Given the description of an element on the screen output the (x, y) to click on. 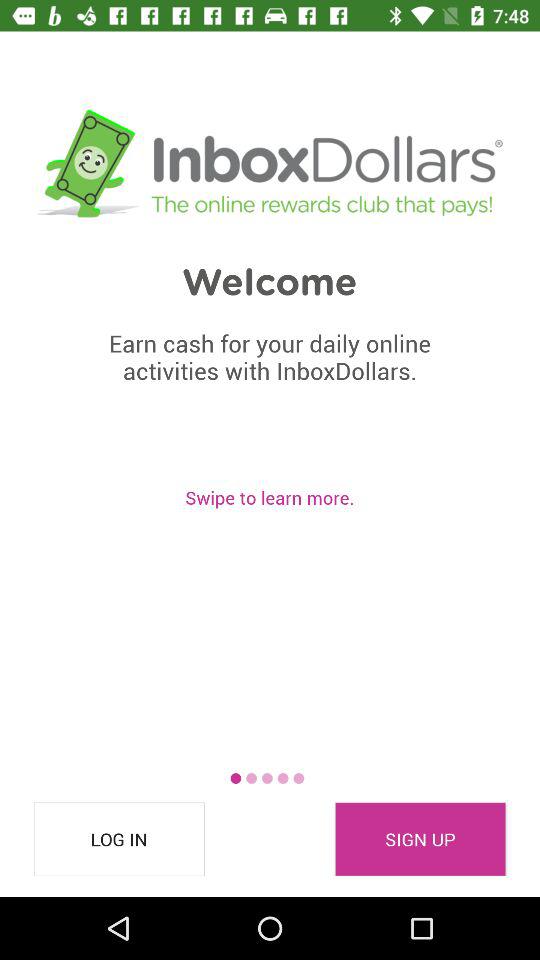
press the log in at the bottom left corner (119, 839)
